Given the description of an element on the screen output the (x, y) to click on. 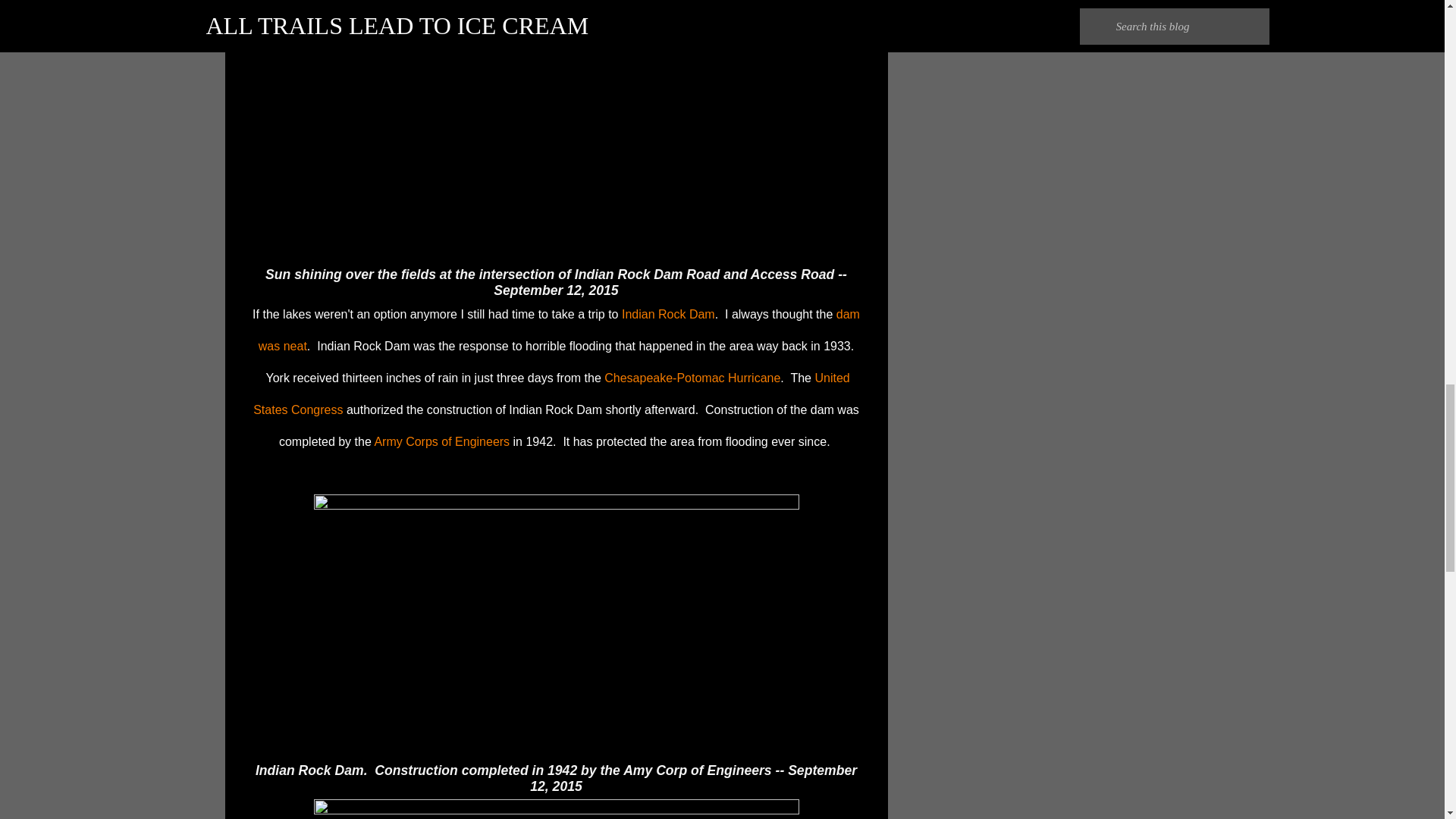
Army Corps of Engineers (441, 440)
United States Congress (550, 393)
Chesapeake-Potomac Hurricane (692, 377)
dam was neat (559, 329)
Indian Rock Dam (667, 314)
